Given the description of an element on the screen output the (x, y) to click on. 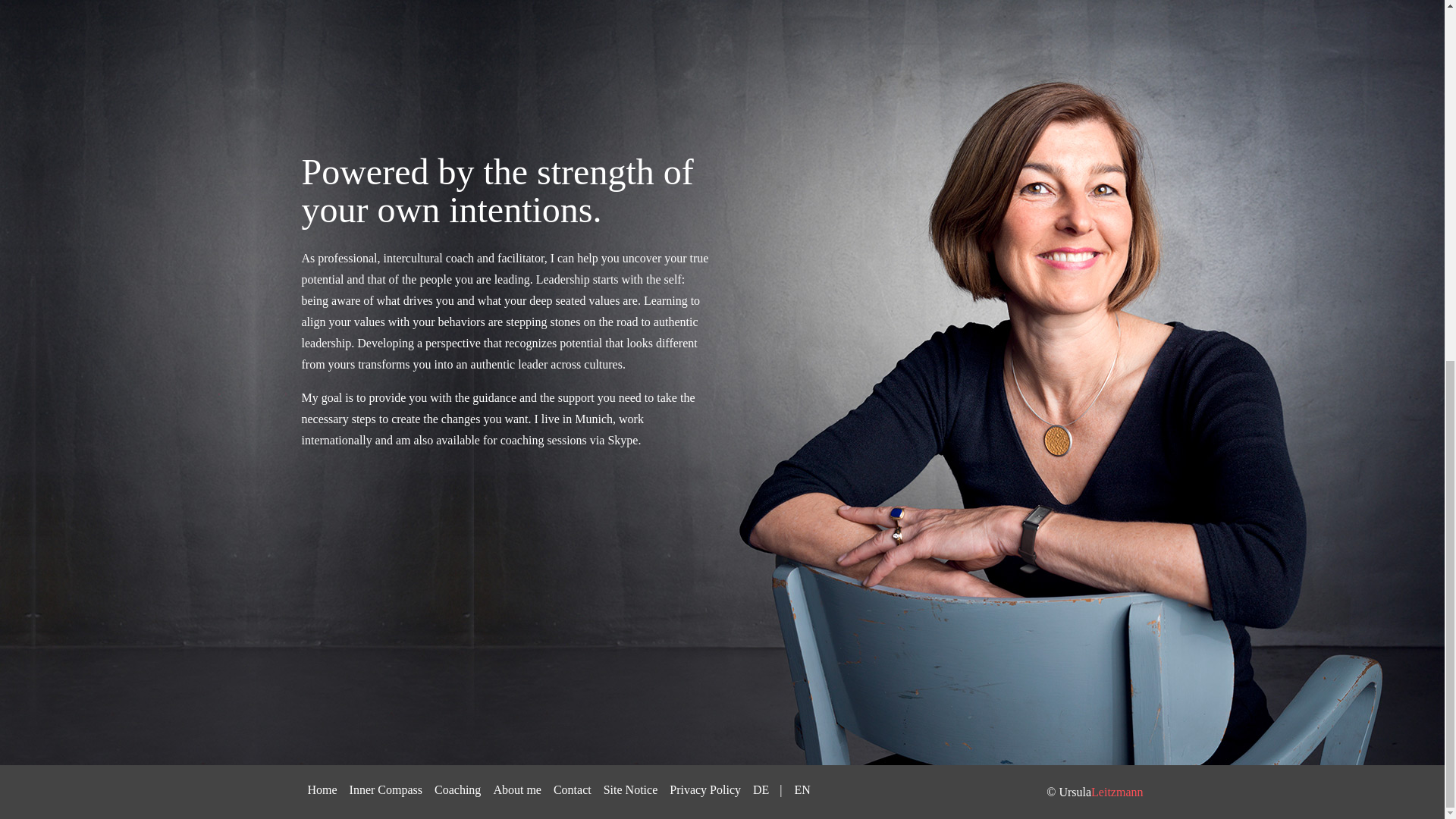
Contact (571, 149)
Site Notice (629, 149)
Inner Compass (385, 149)
Privacy Policy (704, 149)
Coaching (457, 149)
About me (516, 149)
EN (802, 149)
